Given the description of an element on the screen output the (x, y) to click on. 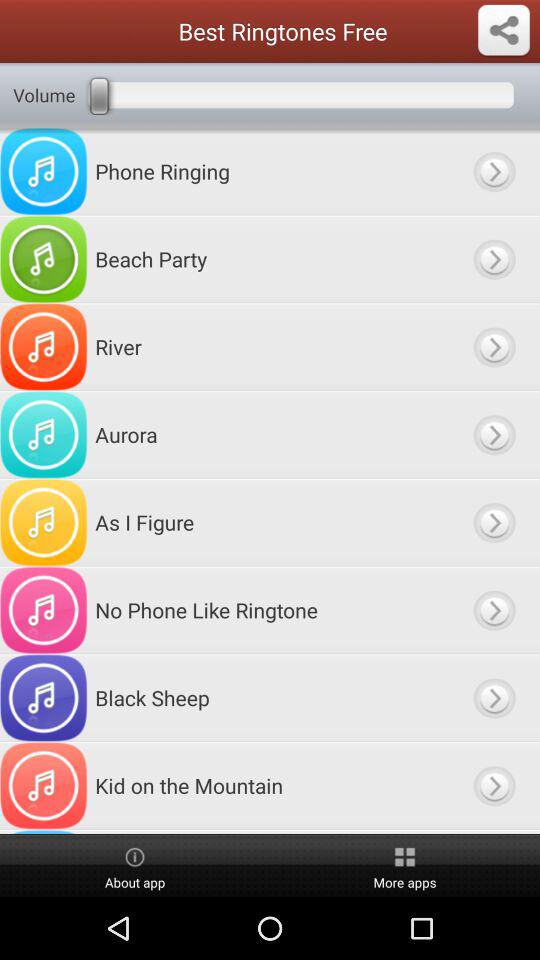
plays sound (494, 171)
